Given the description of an element on the screen output the (x, y) to click on. 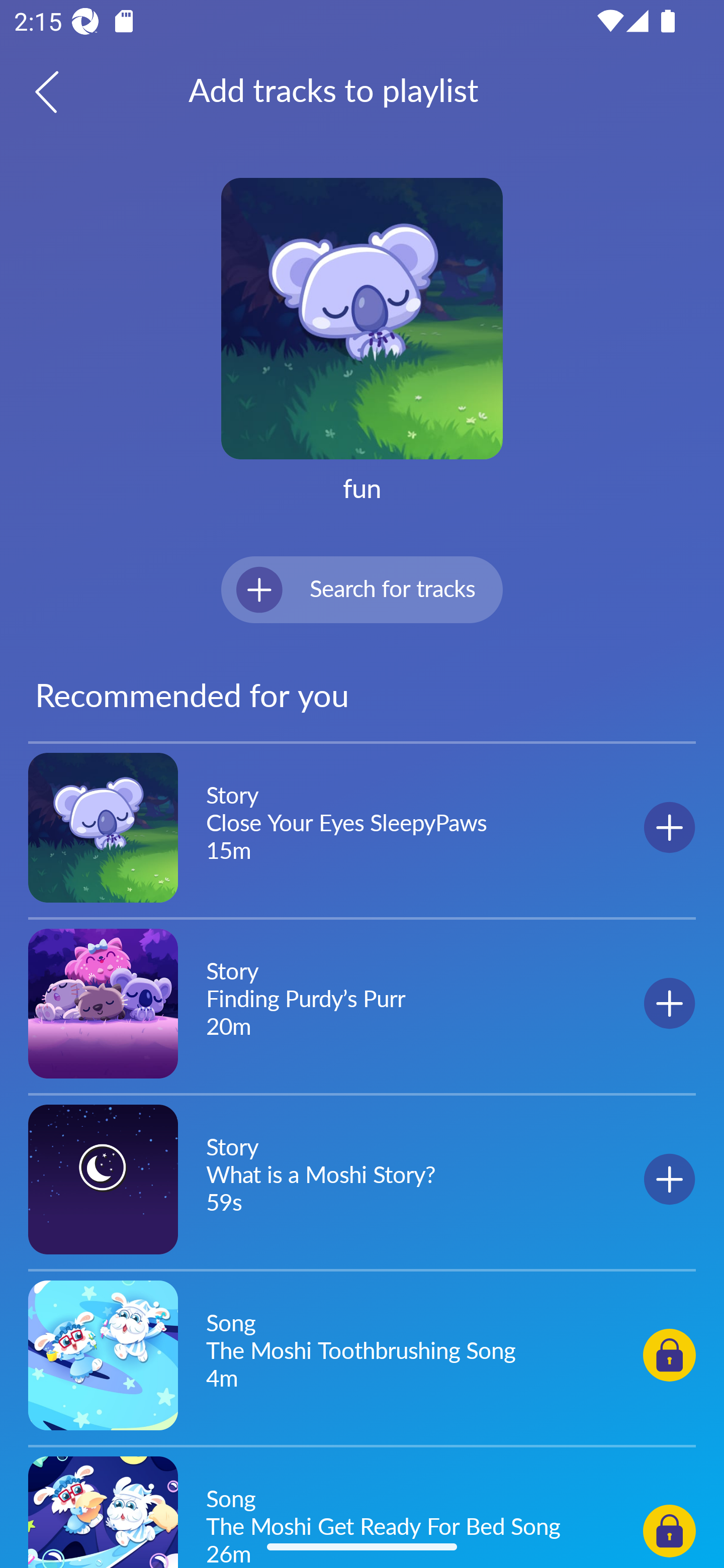
icon Search for tracks (361, 589)
Story Close Your Eyes SleepyPaws 15m (361, 827)
Story Finding Purdy’s Purr 20m (361, 1003)
Story What is a Moshi Story? 59s (361, 1179)
Song The Moshi Toothbrushing Song 4m (361, 1354)
Song The Moshi Get Ready For Bed Song 26m (361, 1509)
